Given the description of an element on the screen output the (x, y) to click on. 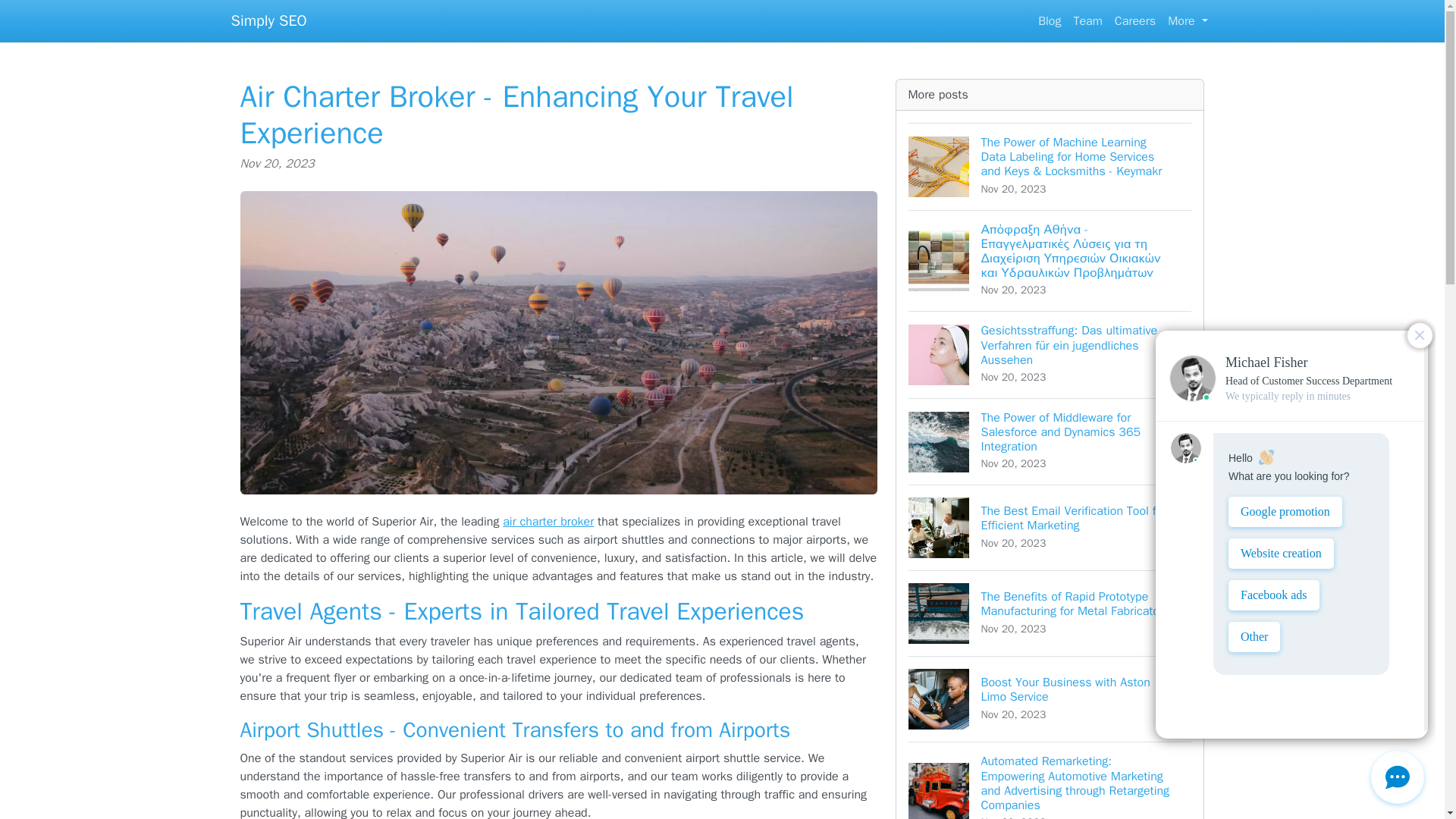
Simply SEO (267, 20)
Careers (1134, 20)
More (1186, 20)
Blog (1049, 20)
air charter broker (548, 521)
Team (1087, 20)
